Given the description of an element on the screen output the (x, y) to click on. 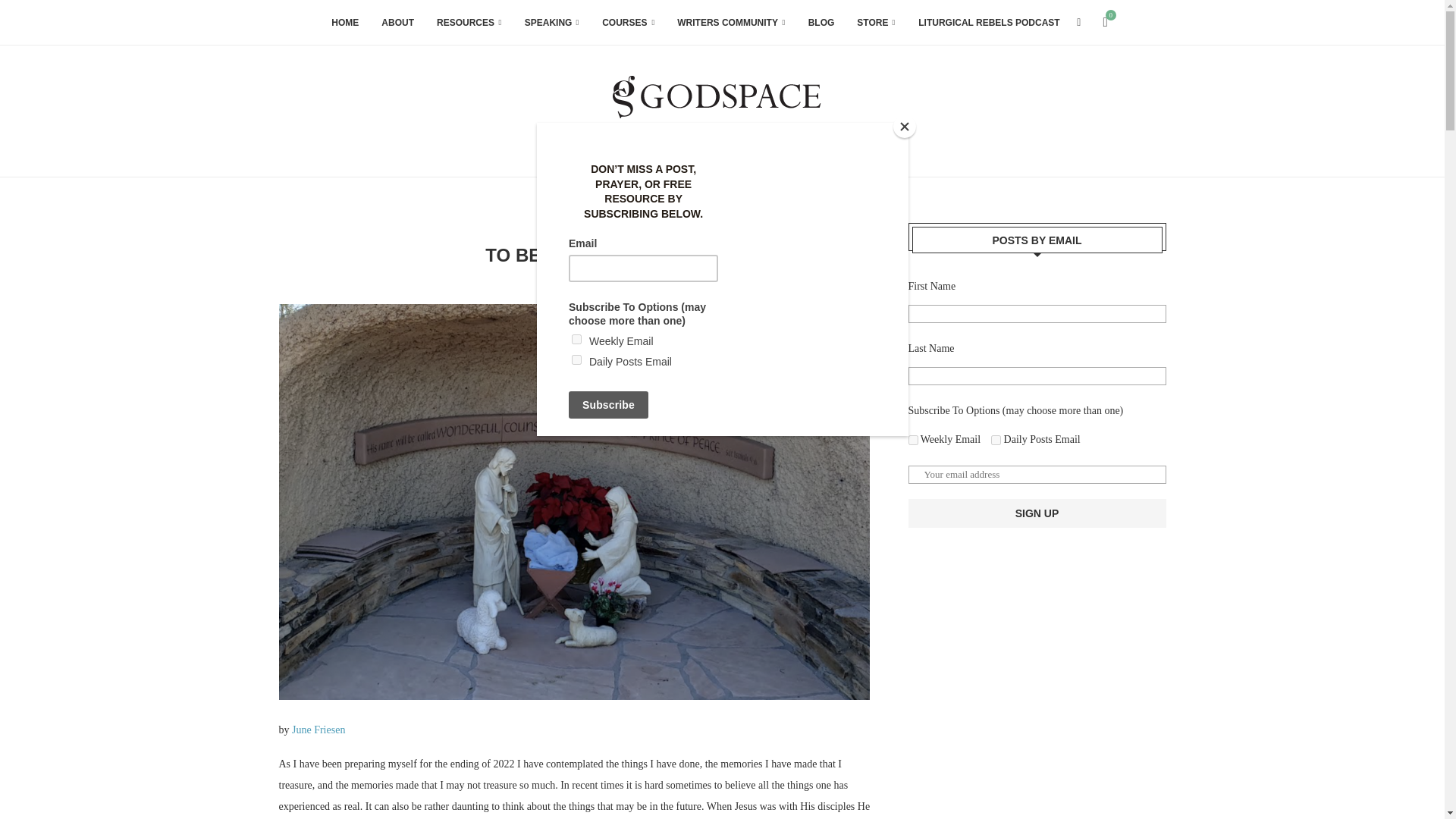
RESOURCES (469, 22)
WRITERS COMMUNITY (730, 22)
COURSES (627, 22)
7316919972 (913, 439)
LITURGICAL REBELS PODCAST (988, 22)
Sign up (1037, 512)
53090618e5 (996, 439)
SPEAKING (551, 22)
